Given the description of an element on the screen output the (x, y) to click on. 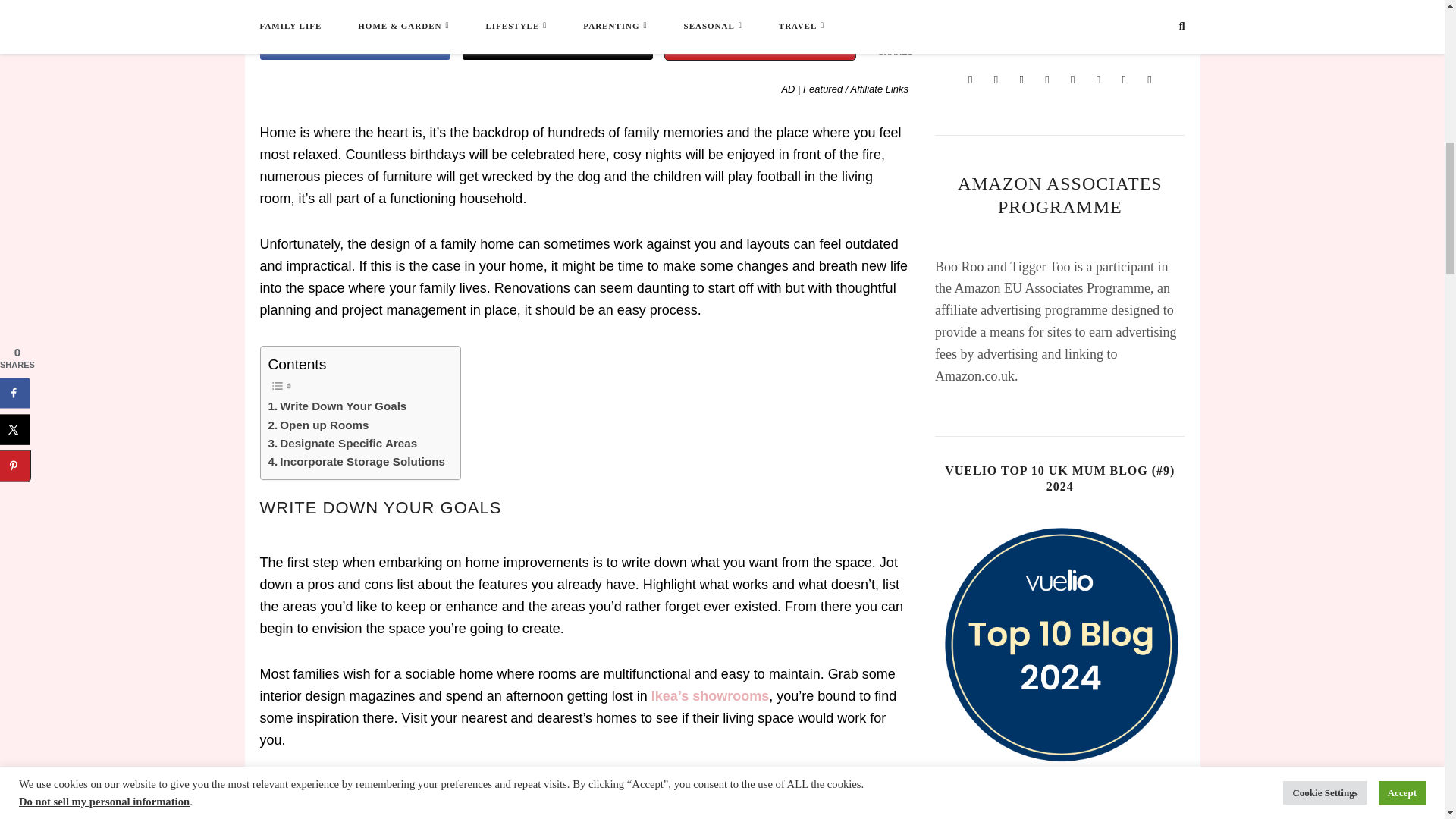
Share on Facebook (354, 44)
Designate Specific Areas (342, 443)
Write Down Your Goals (337, 406)
Share on X (557, 44)
Incorporate Storage Solutions (356, 461)
Save to Pinterest (760, 44)
Open up Rooms (318, 425)
